Given the description of an element on the screen output the (x, y) to click on. 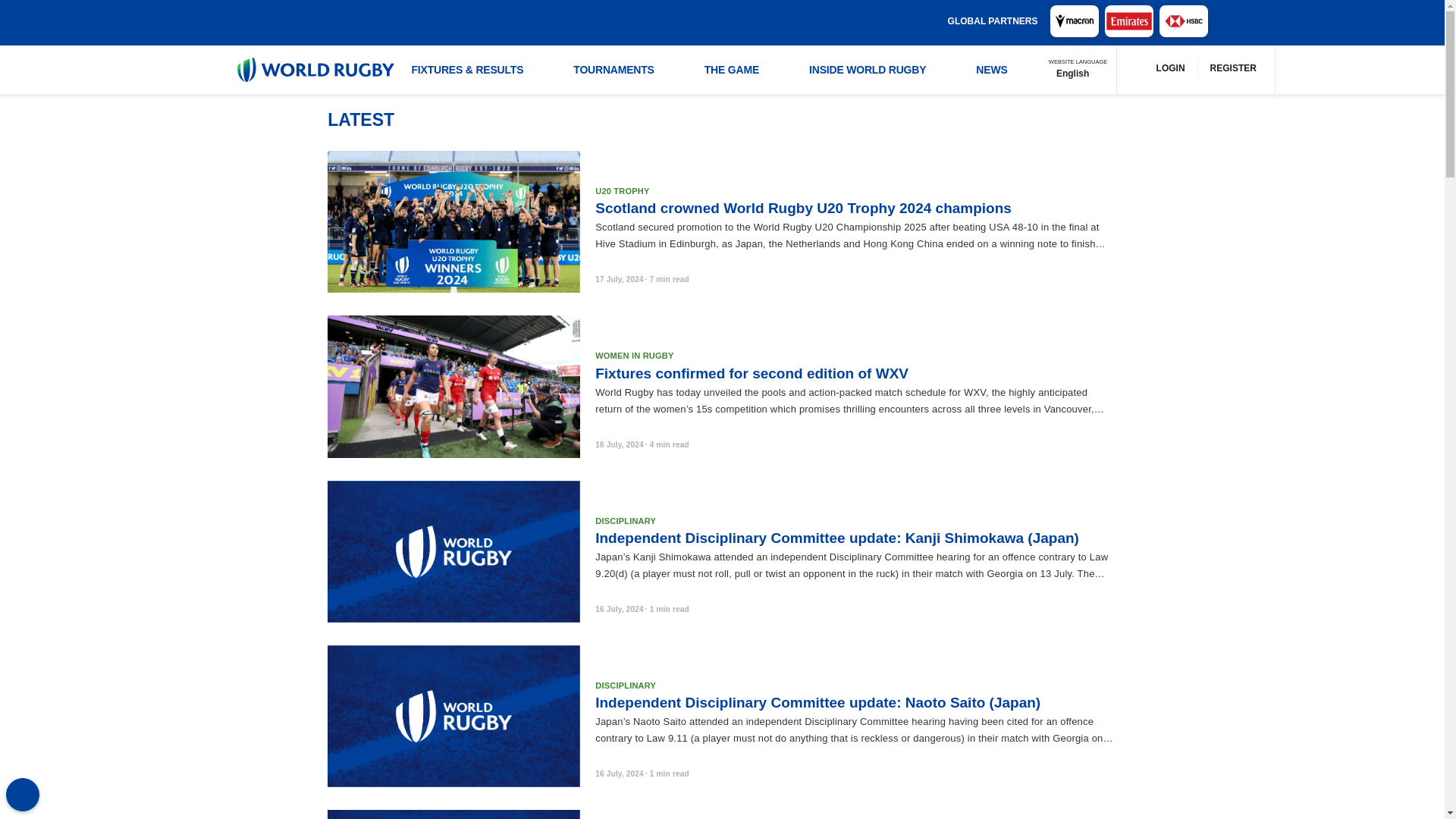
1 characters minimum (706, 20)
World Rugby (314, 69)
